Given the description of an element on the screen output the (x, y) to click on. 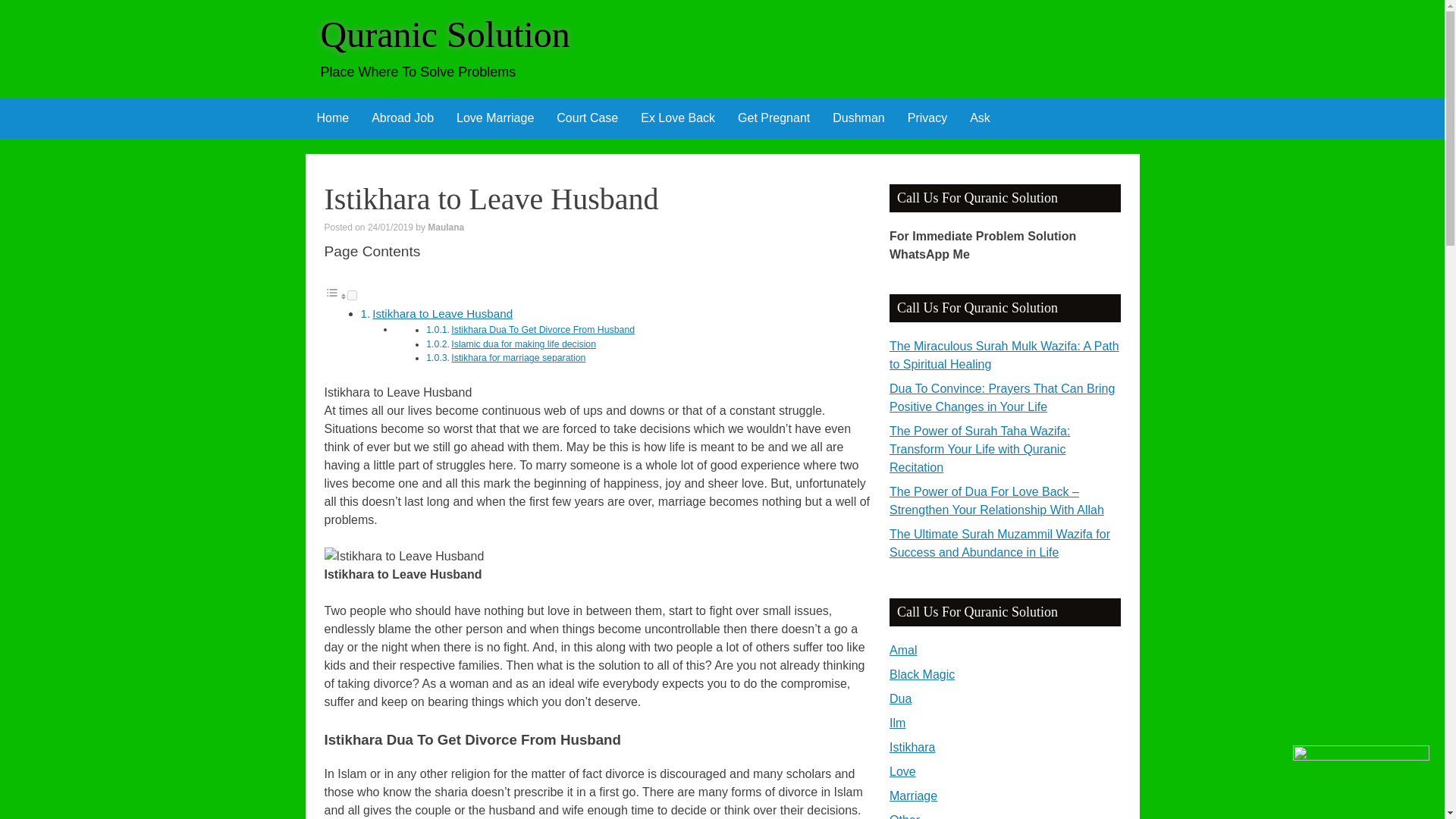
Istikhara to Leave Husband (442, 313)
Black Magic (922, 674)
Istikhara for marriage separation (518, 357)
Ex Love Back (677, 117)
Istikhara to Leave Husband (404, 556)
Islamic dua for making life decision (523, 344)
Skip to content (315, 108)
Home (331, 117)
Islamic dua for making life decision (523, 344)
Istikhara Dua To Get Divorce From Husband (542, 329)
